Given the description of an element on the screen output the (x, y) to click on. 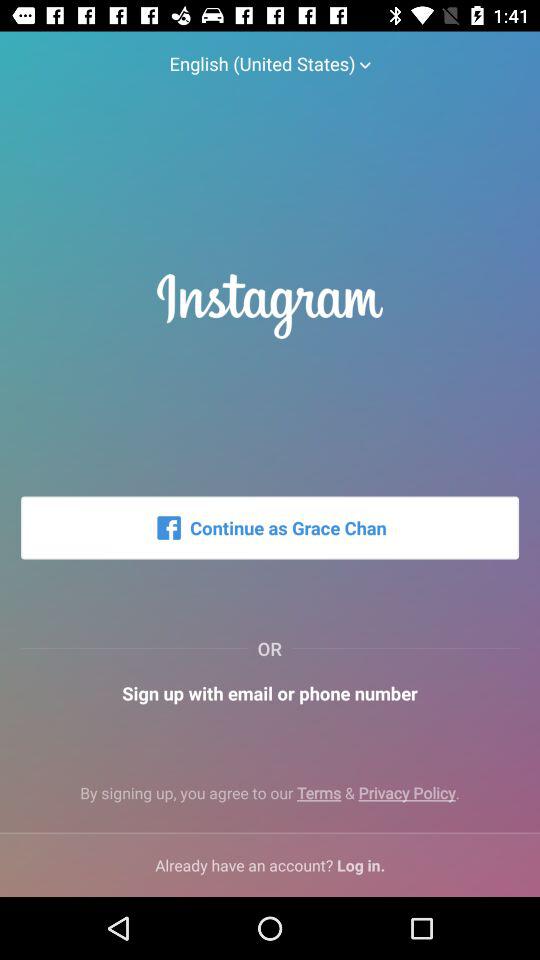
scroll to english (united states) (269, 53)
